Given the description of an element on the screen output the (x, y) to click on. 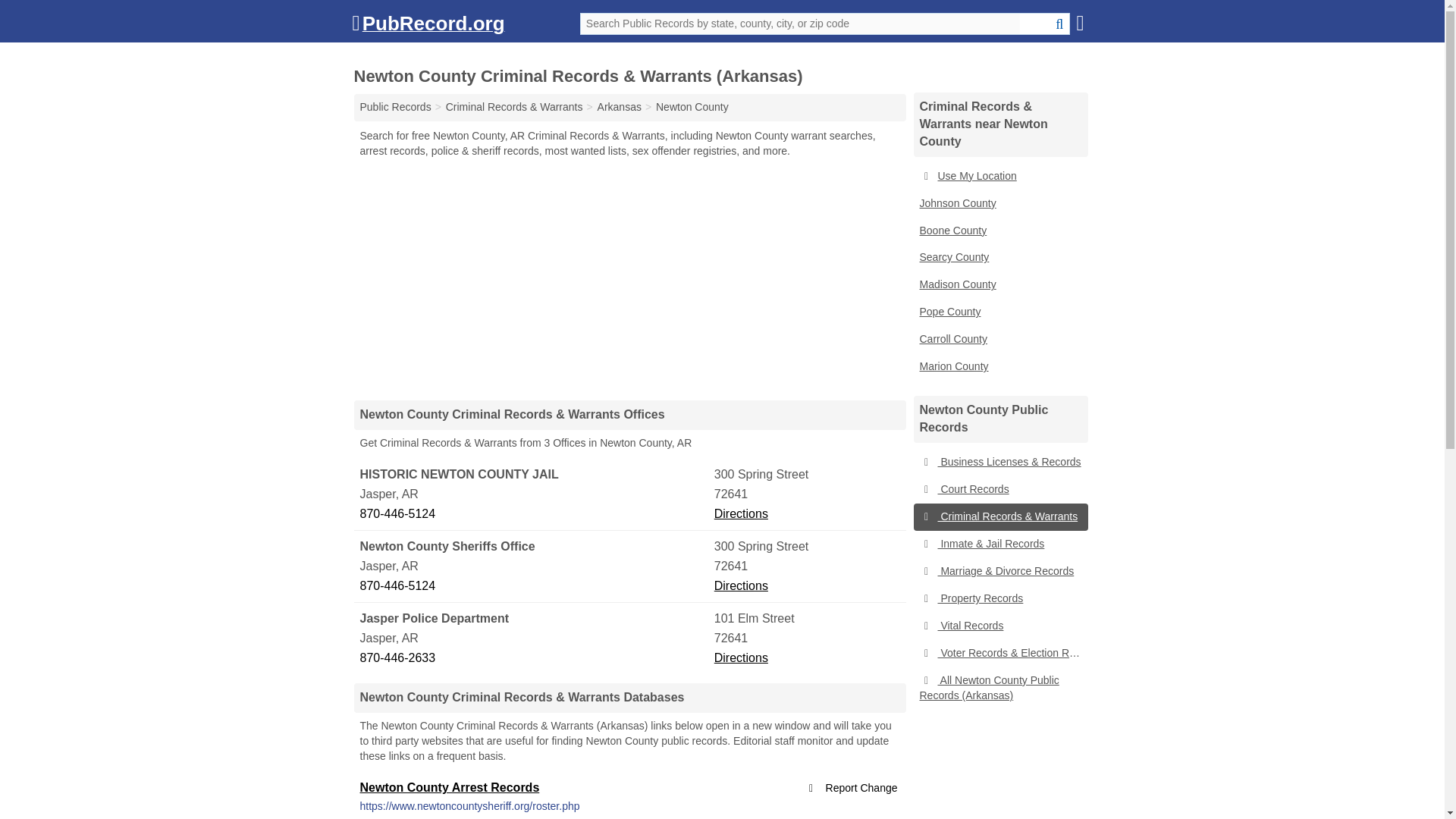
Directions (741, 513)
Advertisement (629, 278)
Newton County (692, 106)
Newton County Arrest Records (448, 787)
Arkansas (619, 106)
PubRecord.org (427, 26)
PubRecord.org (427, 26)
Directions (741, 657)
Newton County Arrest Records (448, 787)
870-446-5124 (534, 514)
870-446-5124 (534, 586)
870-446-2633 (534, 658)
Public Records - PubRecords.org (394, 106)
Directions (741, 585)
Public Records (394, 106)
